Given the description of an element on the screen output the (x, y) to click on. 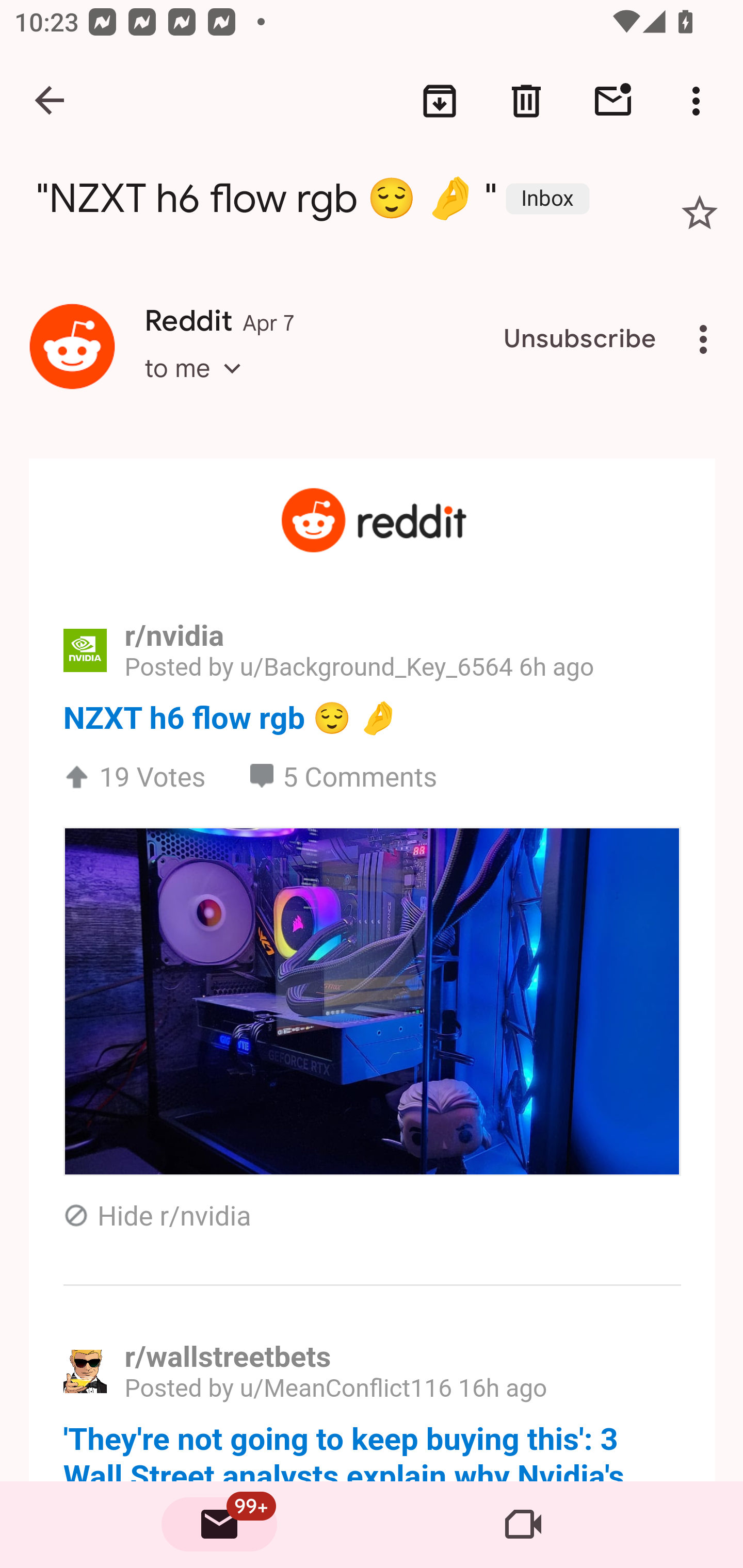
Navigate up (50, 101)
Archive (439, 101)
Delete (525, 101)
Mark unread (612, 101)
More options (699, 101)
Add star (699, 212)
Unsubscribe (579, 339)
More options (706, 339)
Show contact information for Reddit (71, 346)
to me (199, 386)
Meet (523, 1524)
